Given the description of an element on the screen output the (x, y) to click on. 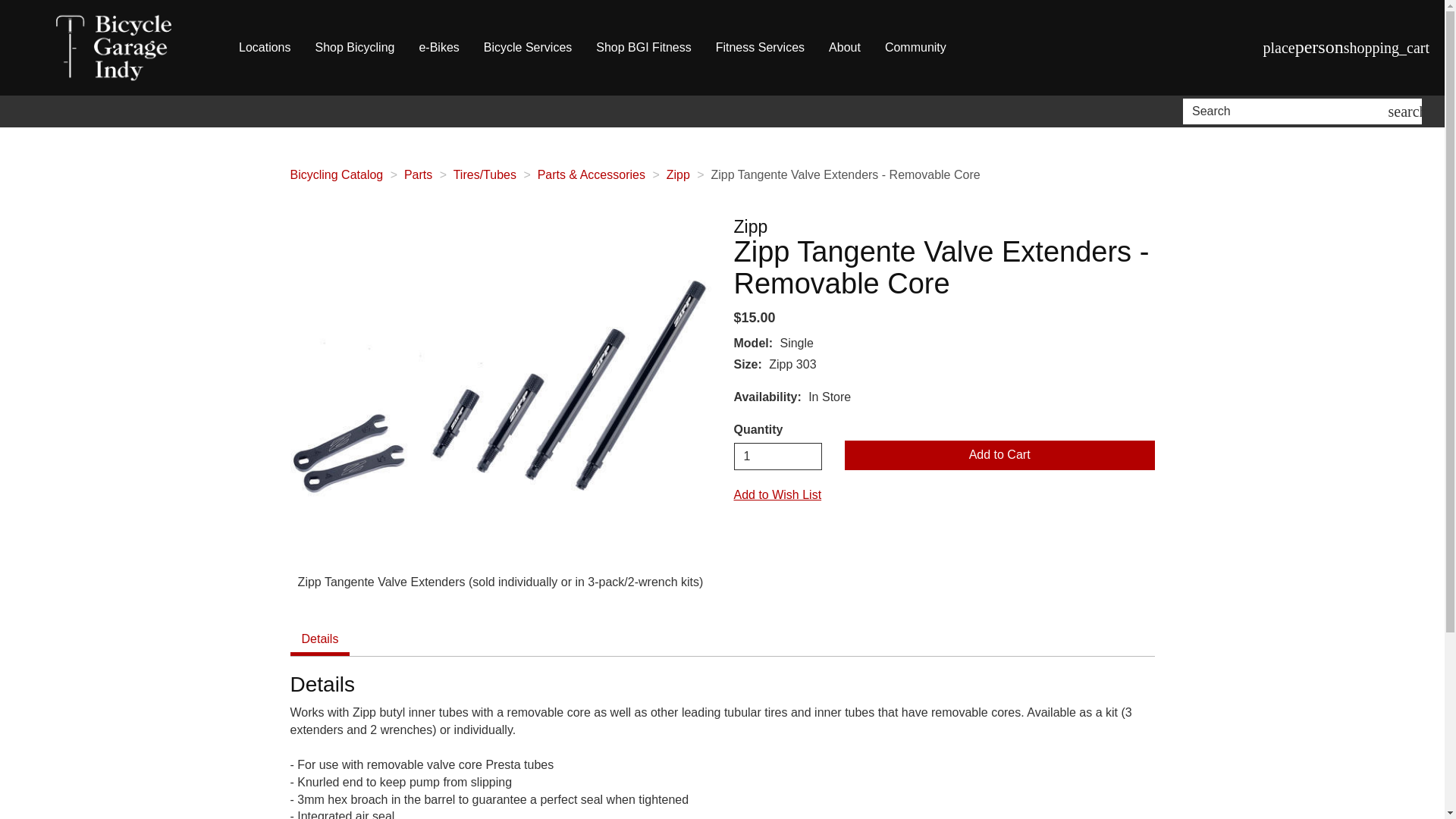
Shop Bicycling (354, 47)
1 (777, 456)
Search (1287, 111)
Bicycle Garage Indy Home Page (114, 47)
Zipp Zipp Tangente Valve Extenders - Removable Core  (499, 388)
